Given the description of an element on the screen output the (x, y) to click on. 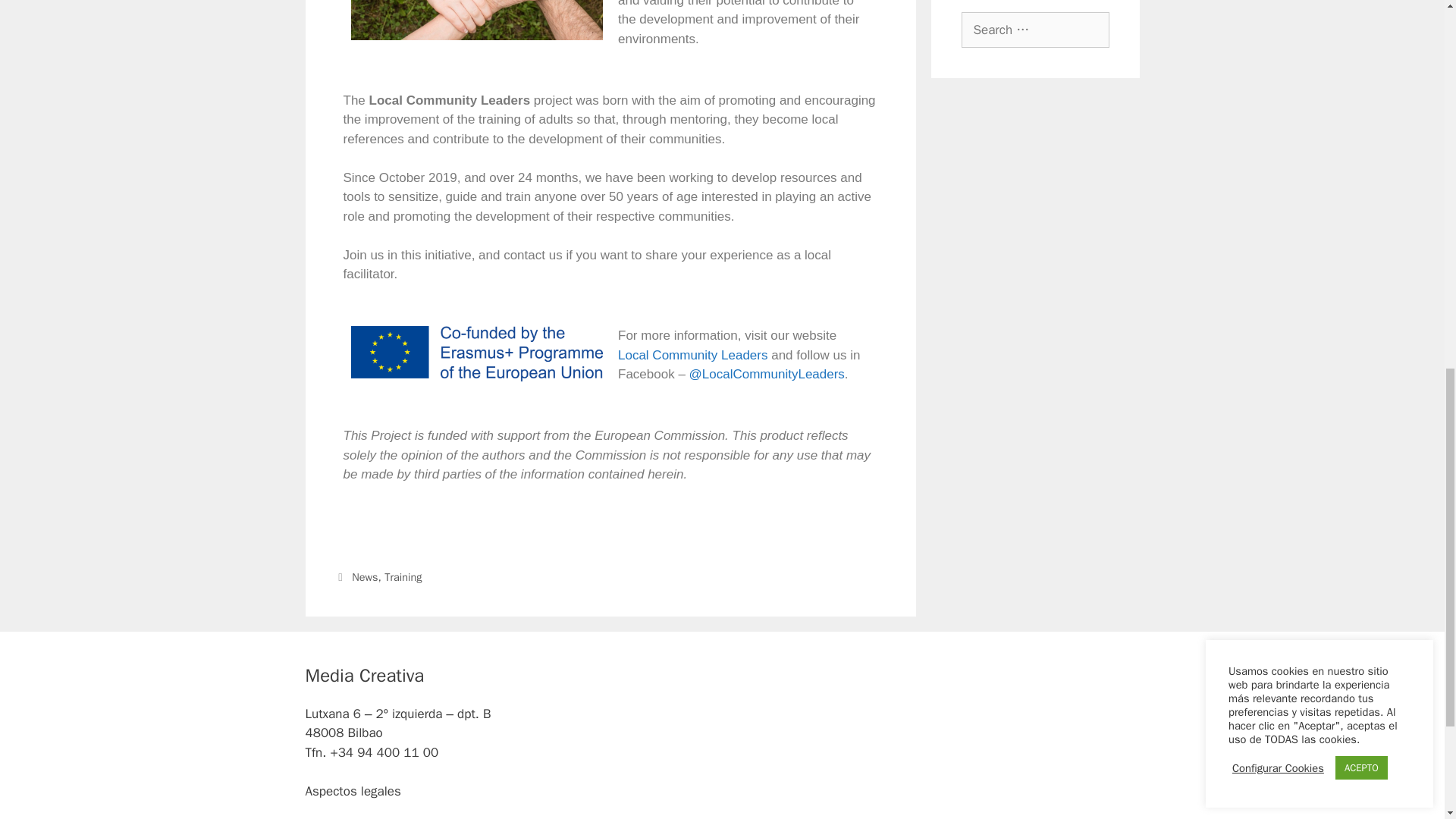
News (364, 576)
Local Community Leaders (692, 355)
Training (403, 576)
Scroll back to top (1406, 720)
Search for: (1034, 30)
